Given the description of an element on the screen output the (x, y) to click on. 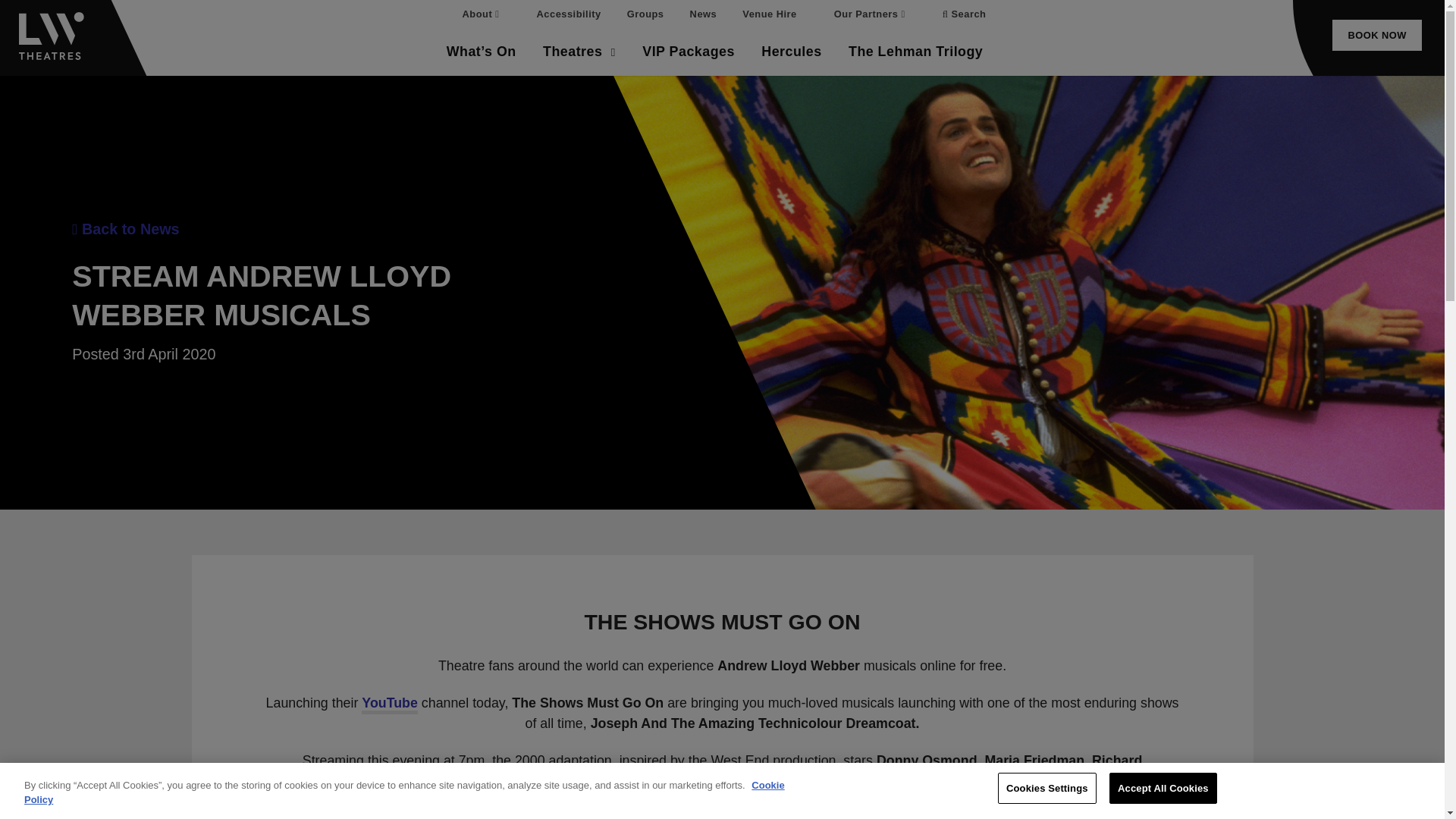
Back to News (125, 229)
Hercules (790, 51)
VIP Packages (687, 51)
Search (964, 13)
LW Theatres (52, 38)
BOOK NOW (1377, 34)
The Lehman Trilogy (915, 51)
Theatres (579, 51)
News (703, 13)
Venue Hire (769, 13)
Accessibility (568, 13)
Groups (645, 13)
YouTube (389, 702)
primary-menu-theatres (579, 51)
